Given the description of an element on the screen output the (x, y) to click on. 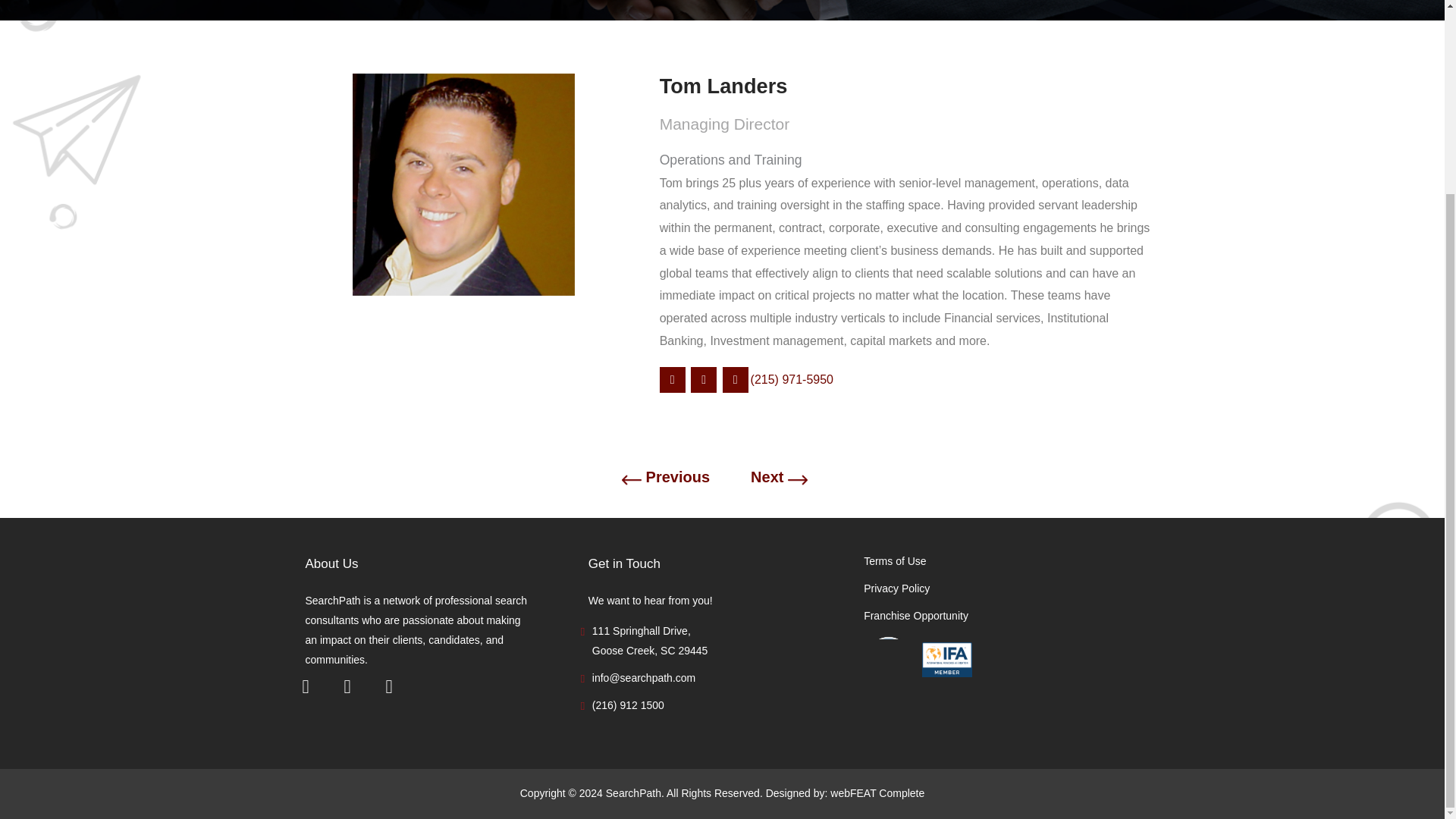
Next (767, 477)
Tom Landers (906, 86)
Previous (677, 477)
